Given the description of an element on the screen output the (x, y) to click on. 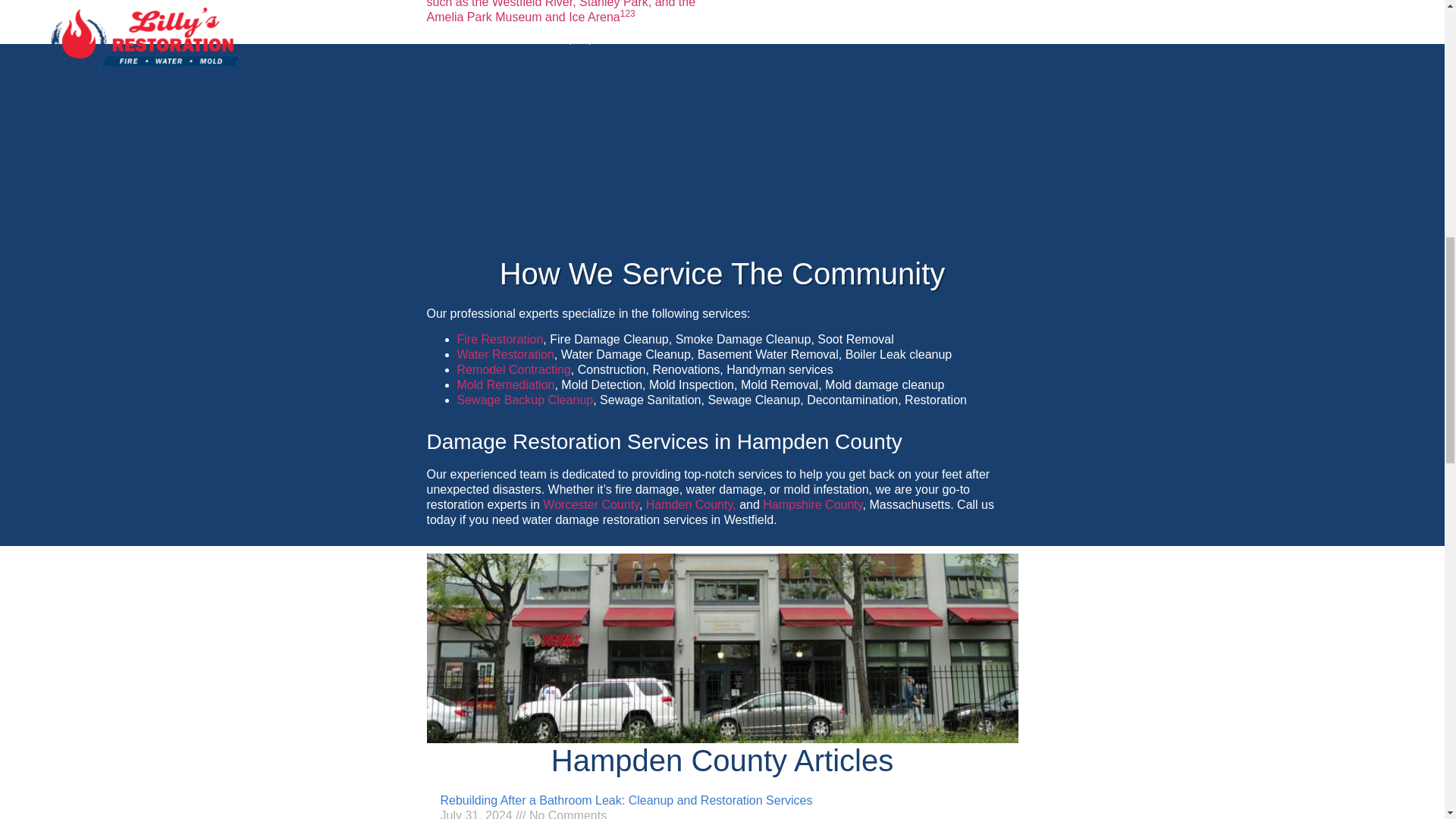
Mold Remediation (505, 384)
Worcester County (591, 504)
Remodel Contracting (513, 369)
Hamden County, (691, 504)
Hampshire County (811, 504)
Water Restoration (505, 354)
Fire Restoration (500, 338)
Sewage Backup Cleanup (524, 399)
